Given the description of an element on the screen output the (x, y) to click on. 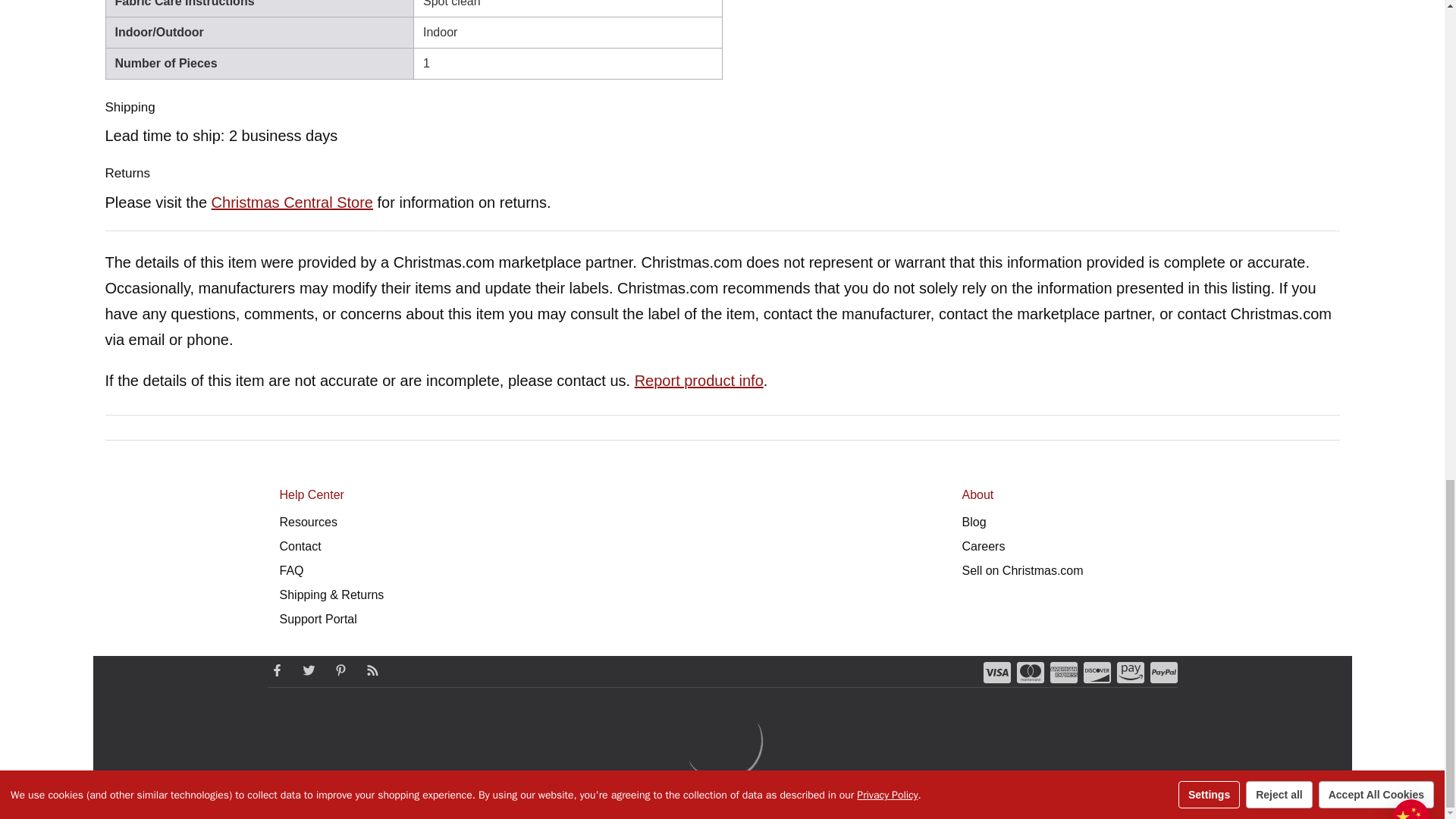
Discover (1096, 672)
Amazon Pay (1129, 672)
American Express (1063, 672)
MasterCard (1029, 672)
MasterCard (1029, 672)
PayPal (1163, 672)
Visa (996, 672)
Discover (1096, 672)
Amazon Pay (1129, 672)
PayPal (1163, 672)
Visa (996, 672)
American Express (1063, 672)
